Given the description of an element on the screen output the (x, y) to click on. 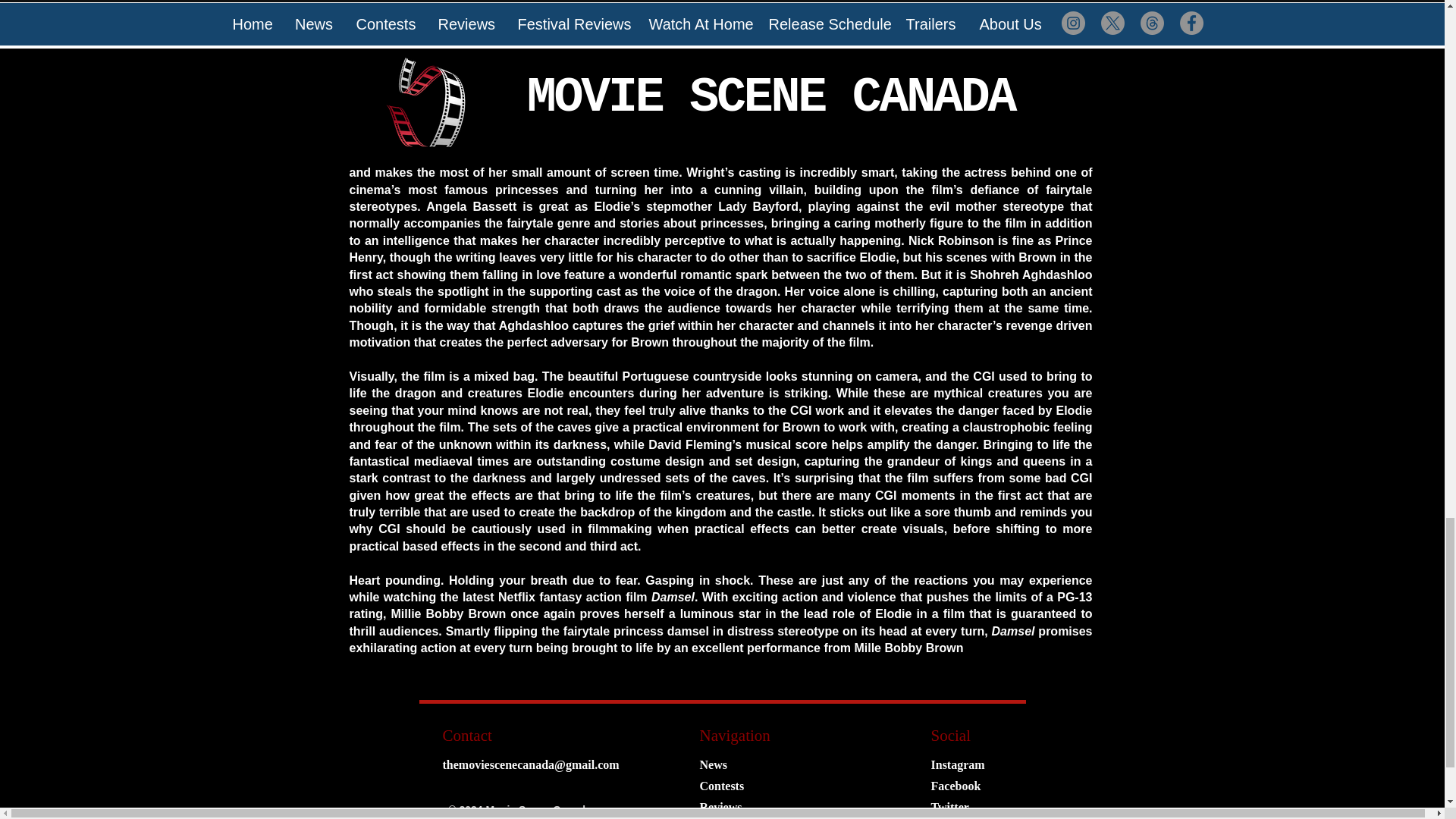
News (712, 765)
Facebook (956, 786)
Reviews (719, 807)
Contests (721, 786)
Twitter (950, 807)
Instagram (958, 765)
